Given the description of an element on the screen output the (x, y) to click on. 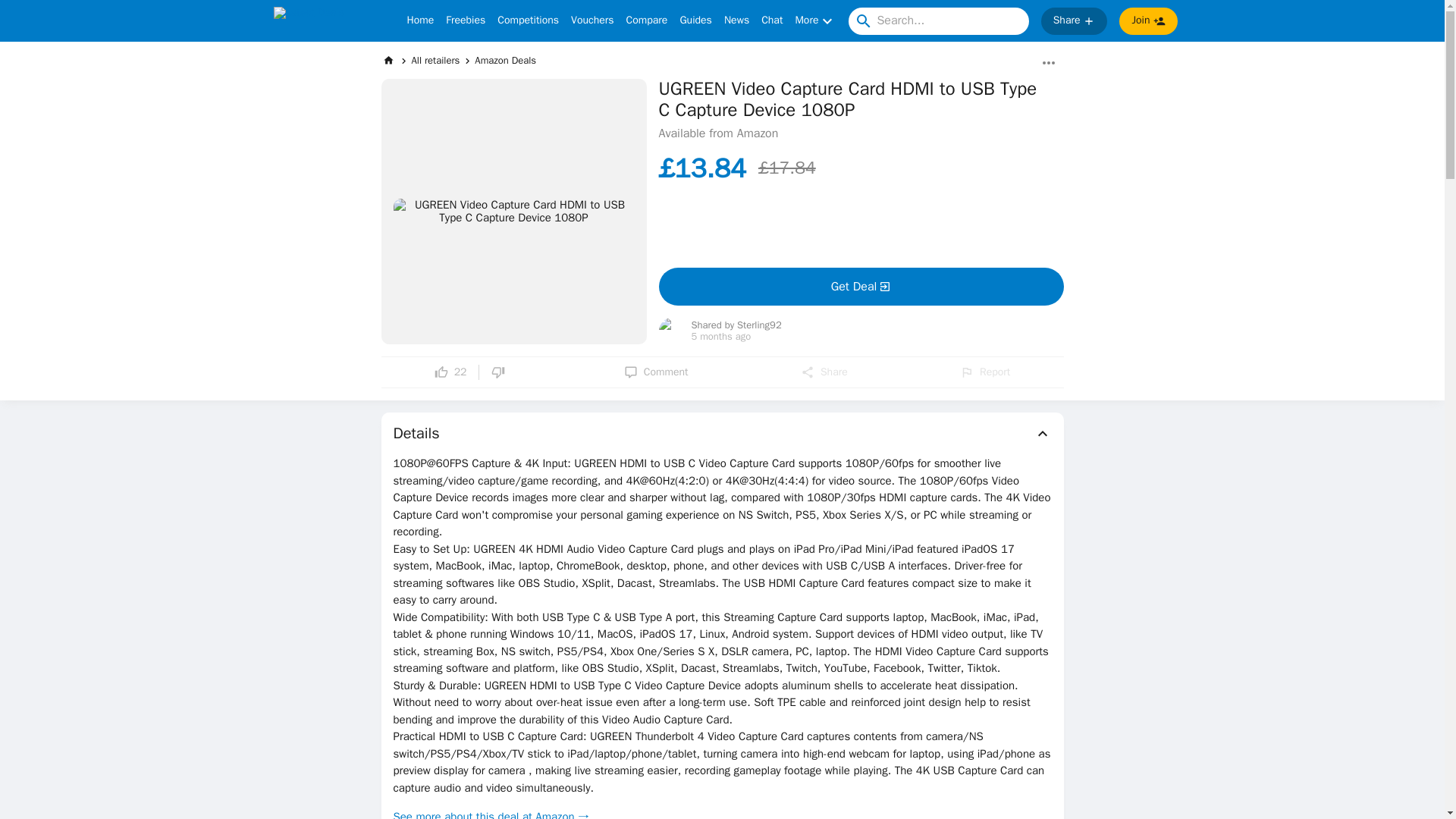
Share (823, 371)
Competitions (528, 21)
Guides (695, 21)
Freebies (464, 21)
Report (984, 371)
Compare (647, 21)
Vouchers (591, 21)
All retailers (435, 60)
Comment (656, 371)
More (814, 21)
